Given the description of an element on the screen output the (x, y) to click on. 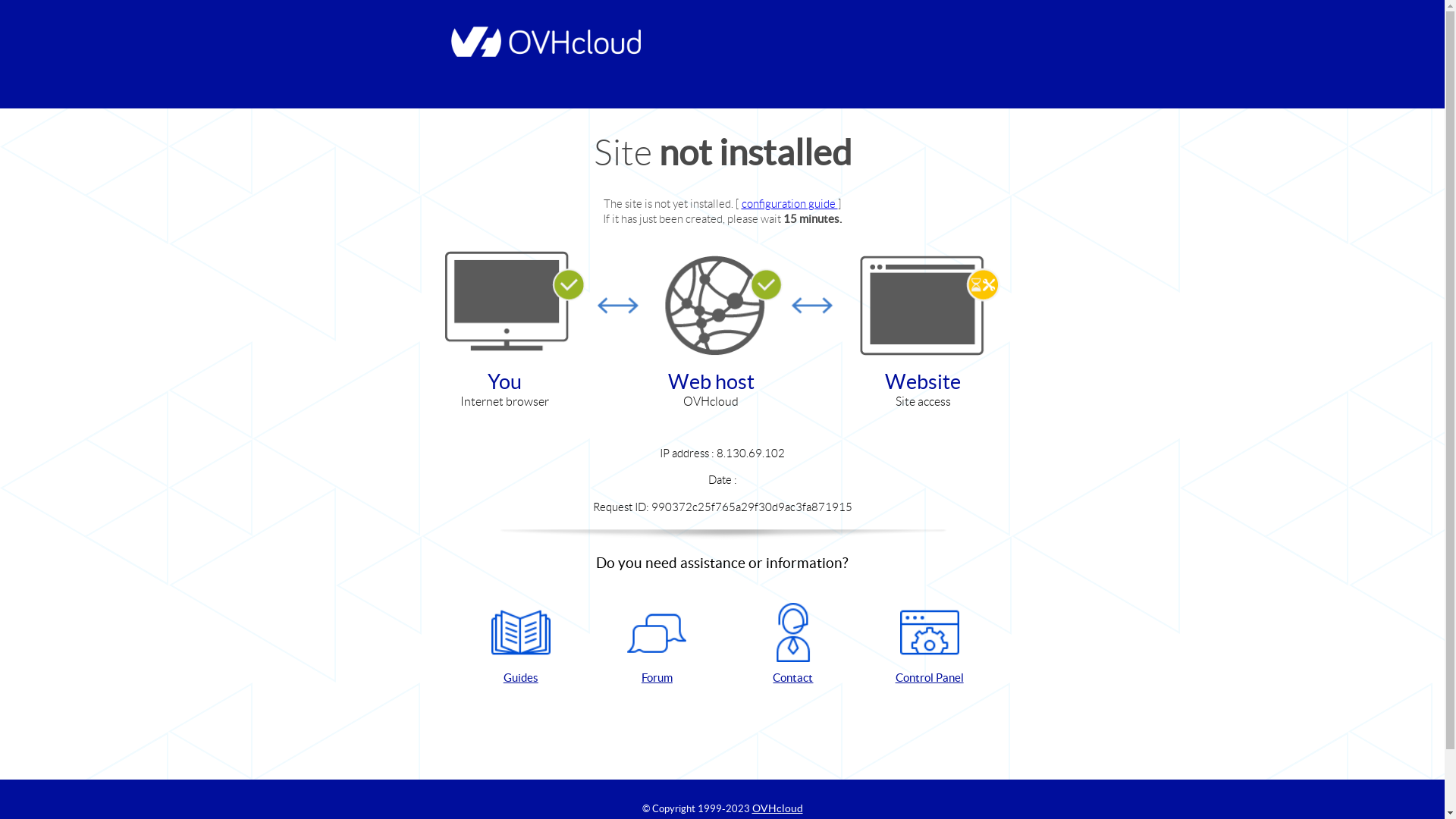
configuration guide Element type: text (789, 203)
Guides Element type: text (520, 644)
Contact Element type: text (792, 644)
OVHcloud Element type: text (777, 808)
Forum Element type: text (656, 644)
Control Panel Element type: text (929, 644)
